Given the description of an element on the screen output the (x, y) to click on. 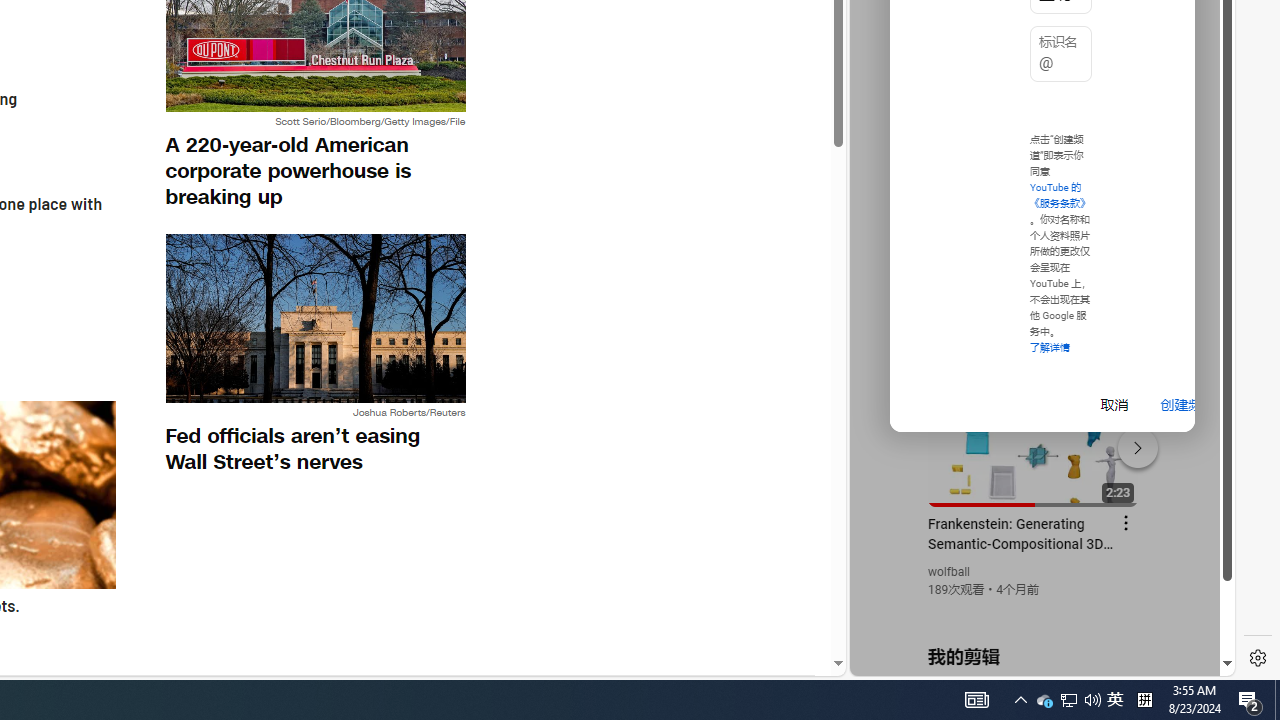
Actions for this site (1131, 443)
you (1034, 609)
YouTube (1034, 432)
wolfball (949, 572)
Global web icon (888, 432)
YouTube - YouTube (1034, 266)
